Given the description of an element on the screen output the (x, y) to click on. 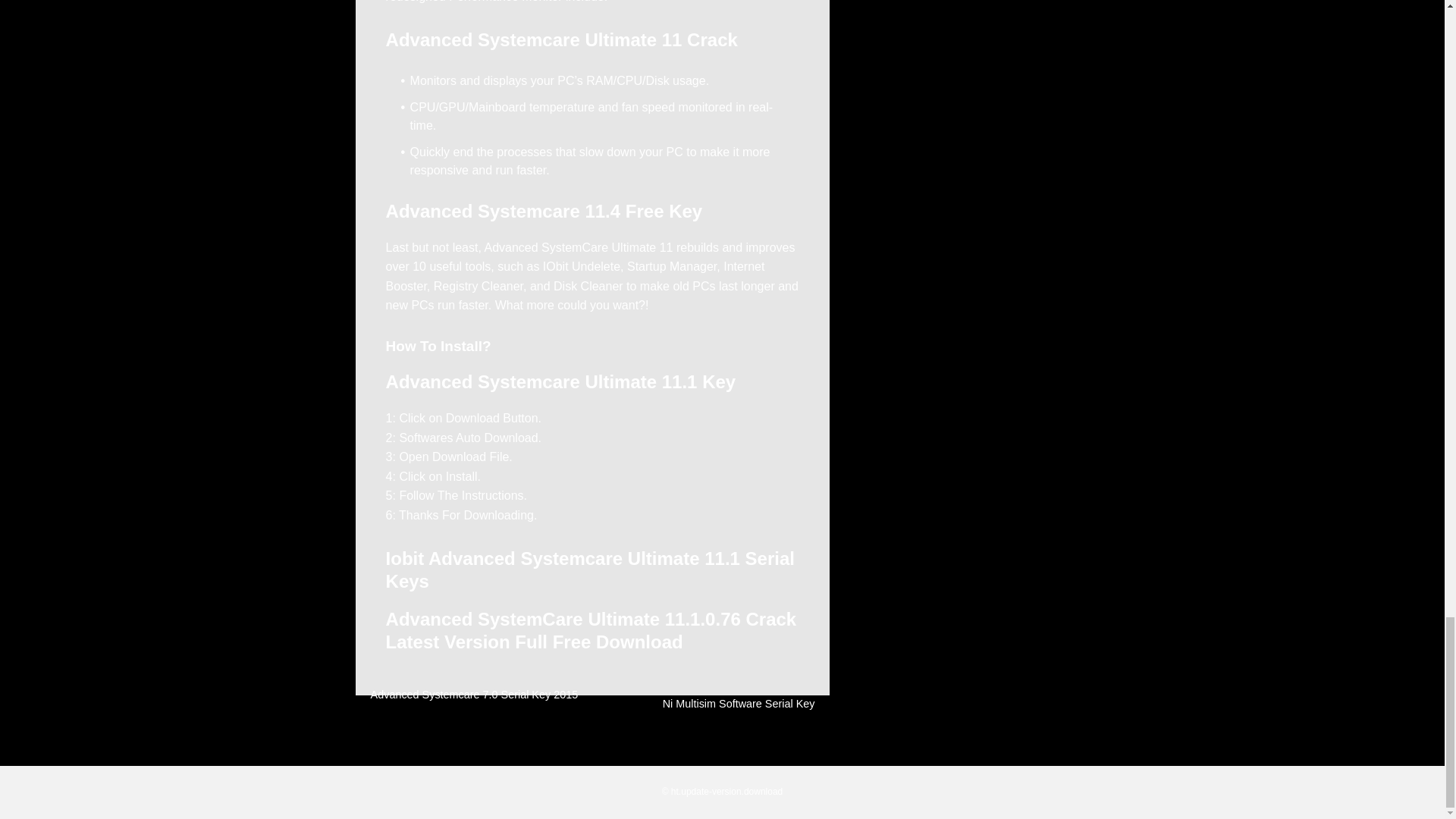
Ni Multisim Software Serial Key (738, 703)
Advanced Systemcare 7.0 Serial Key 2015 (474, 694)
